Given the description of an element on the screen output the (x, y) to click on. 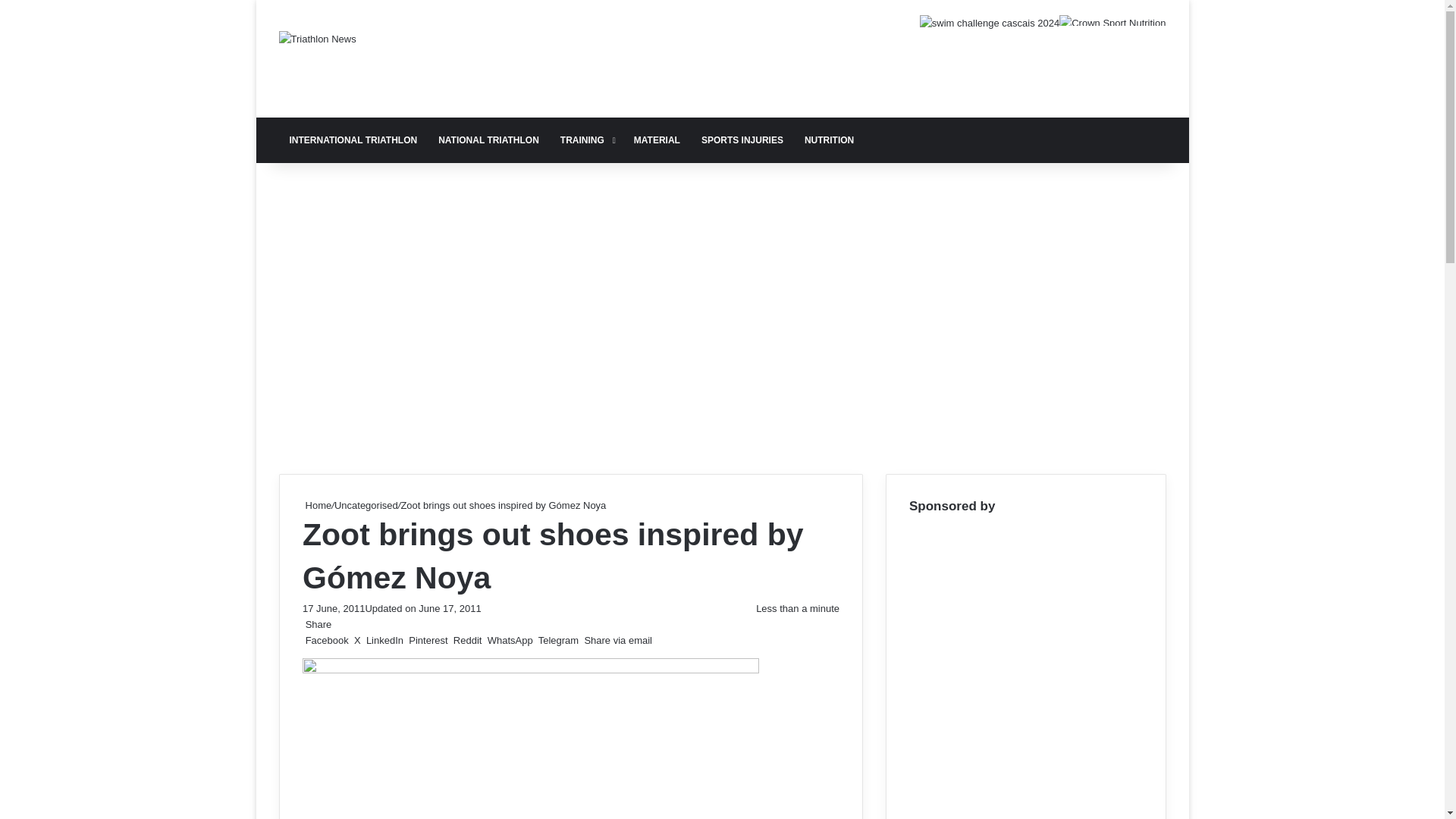
Facebook (325, 640)
NUTRITION (828, 139)
LinkedIn (384, 640)
Pinterest (427, 640)
LinkedIn (384, 640)
MATERIAL (656, 139)
Triathlon News (317, 38)
INTERNATIONAL TRIATHLON (353, 139)
WhatsApp (509, 640)
Reddit (466, 640)
